Given the description of an element on the screen output the (x, y) to click on. 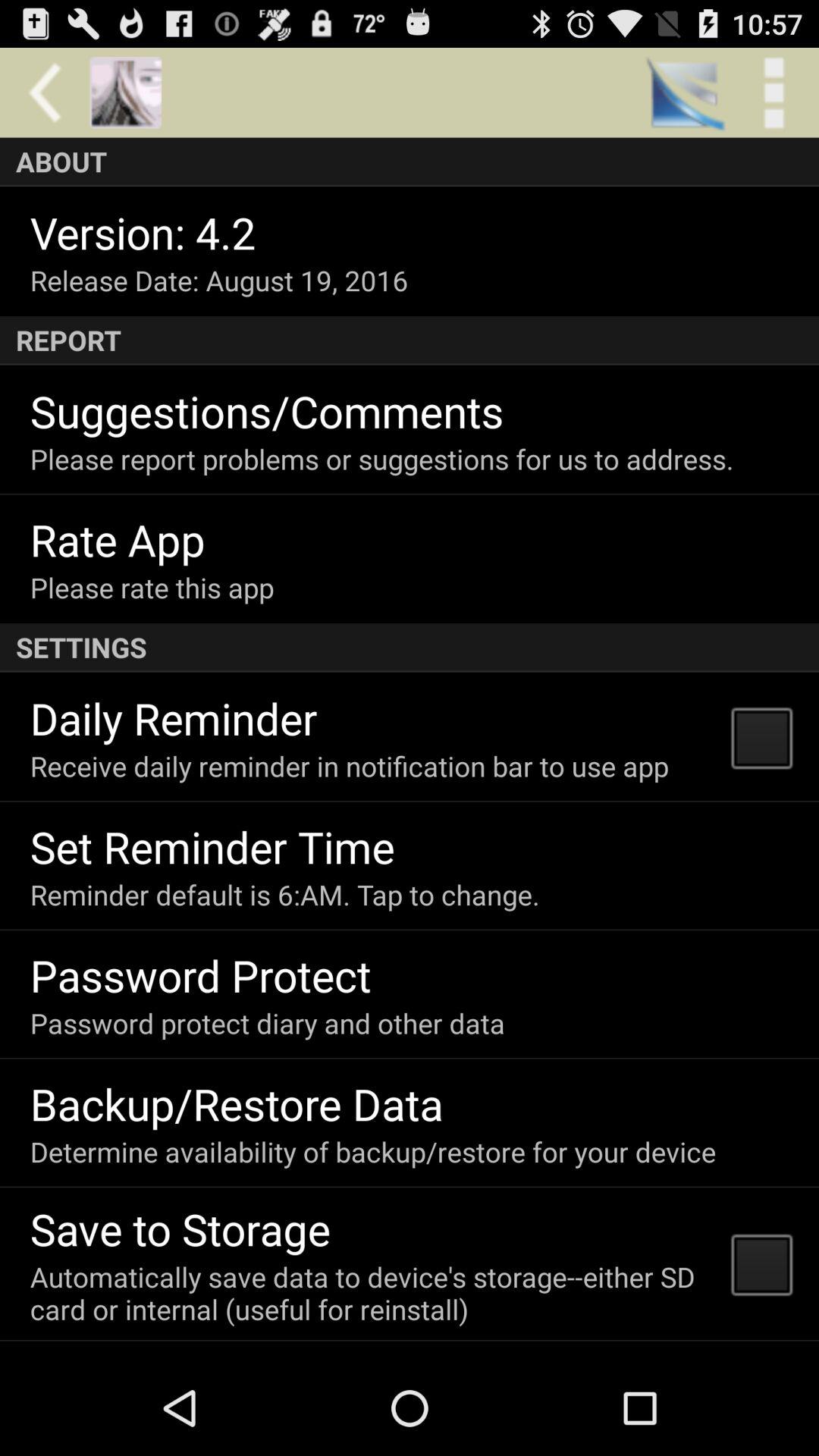
launch app below the receive daily reminder icon (212, 846)
